Given the description of an element on the screen output the (x, y) to click on. 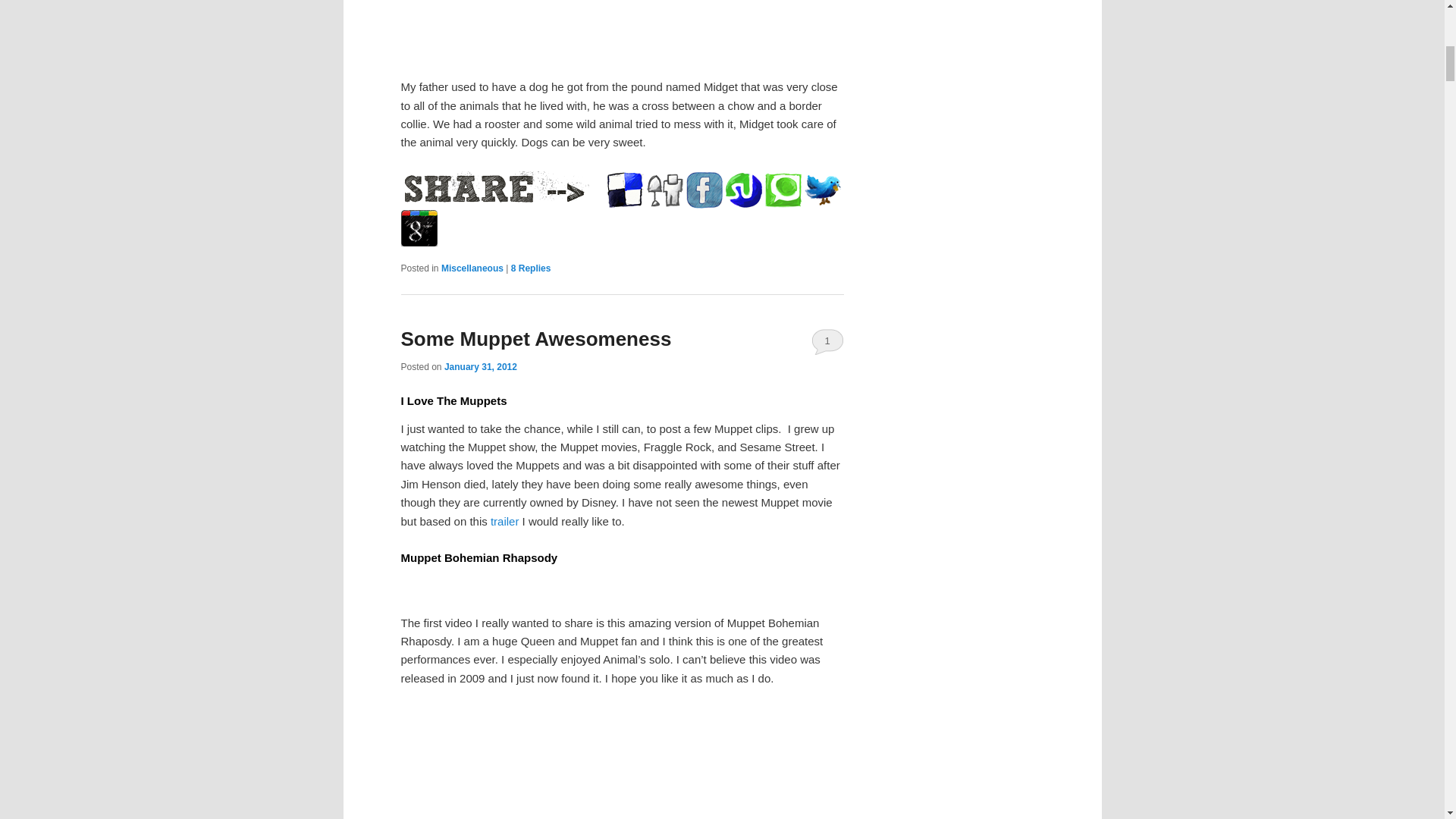
del.icio.us (625, 189)
Facebook (703, 189)
January 31, 2012 (480, 366)
Technorati (782, 189)
8 Replies (531, 267)
Miscellaneous (472, 267)
StumbleUpon (743, 189)
trailer (504, 521)
Digg (664, 189)
Twitter (821, 189)
